Given the description of an element on the screen output the (x, y) to click on. 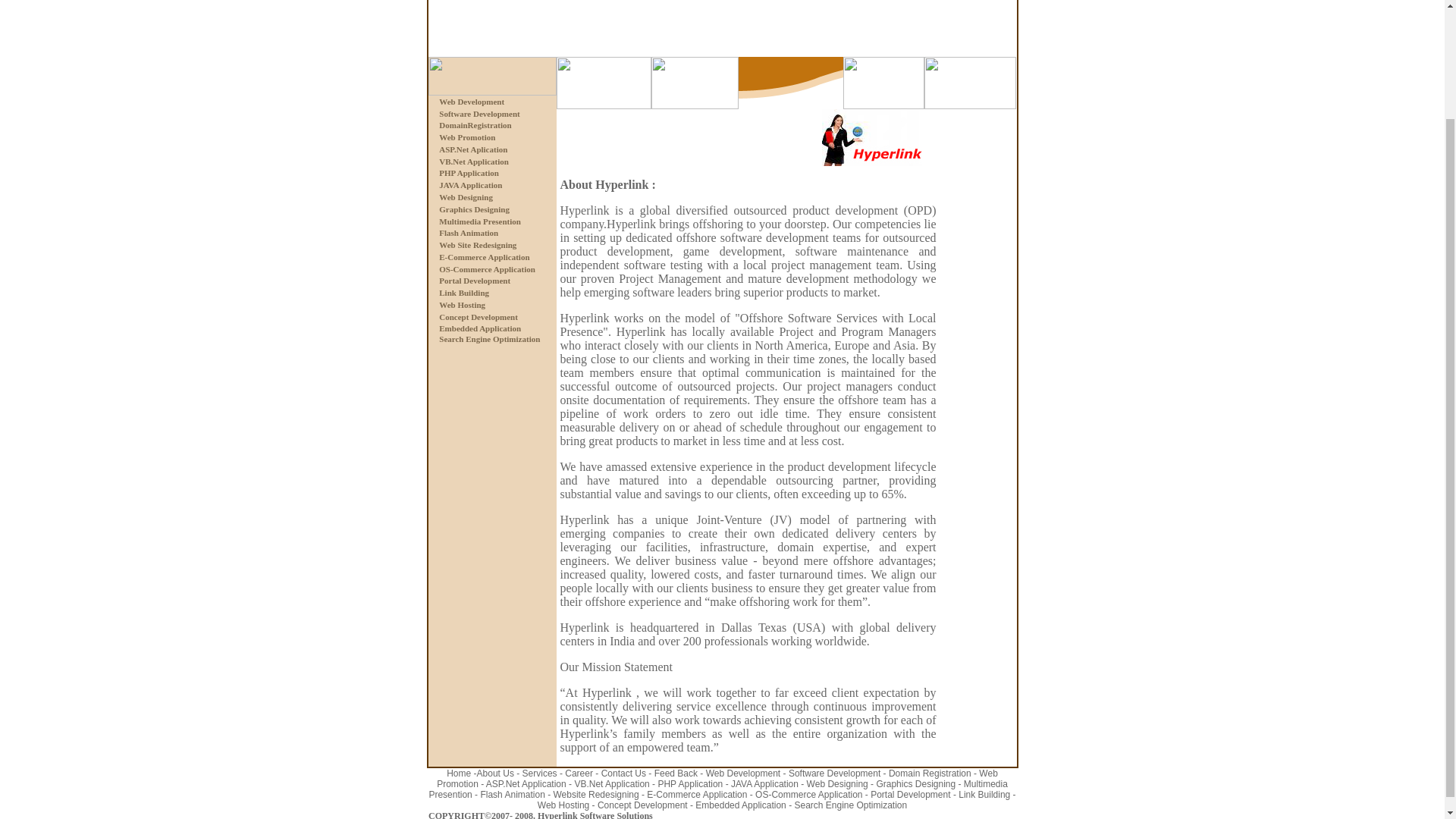
DomainRegistration (475, 124)
Home (458, 773)
Web Development (744, 773)
Career (578, 773)
Software Development (479, 112)
VB.Net Application (473, 161)
E-Commerce Application (484, 256)
Concept Development (478, 316)
JAVA Application (763, 783)
Embedded Application (480, 327)
